Given the description of an element on the screen output the (x, y) to click on. 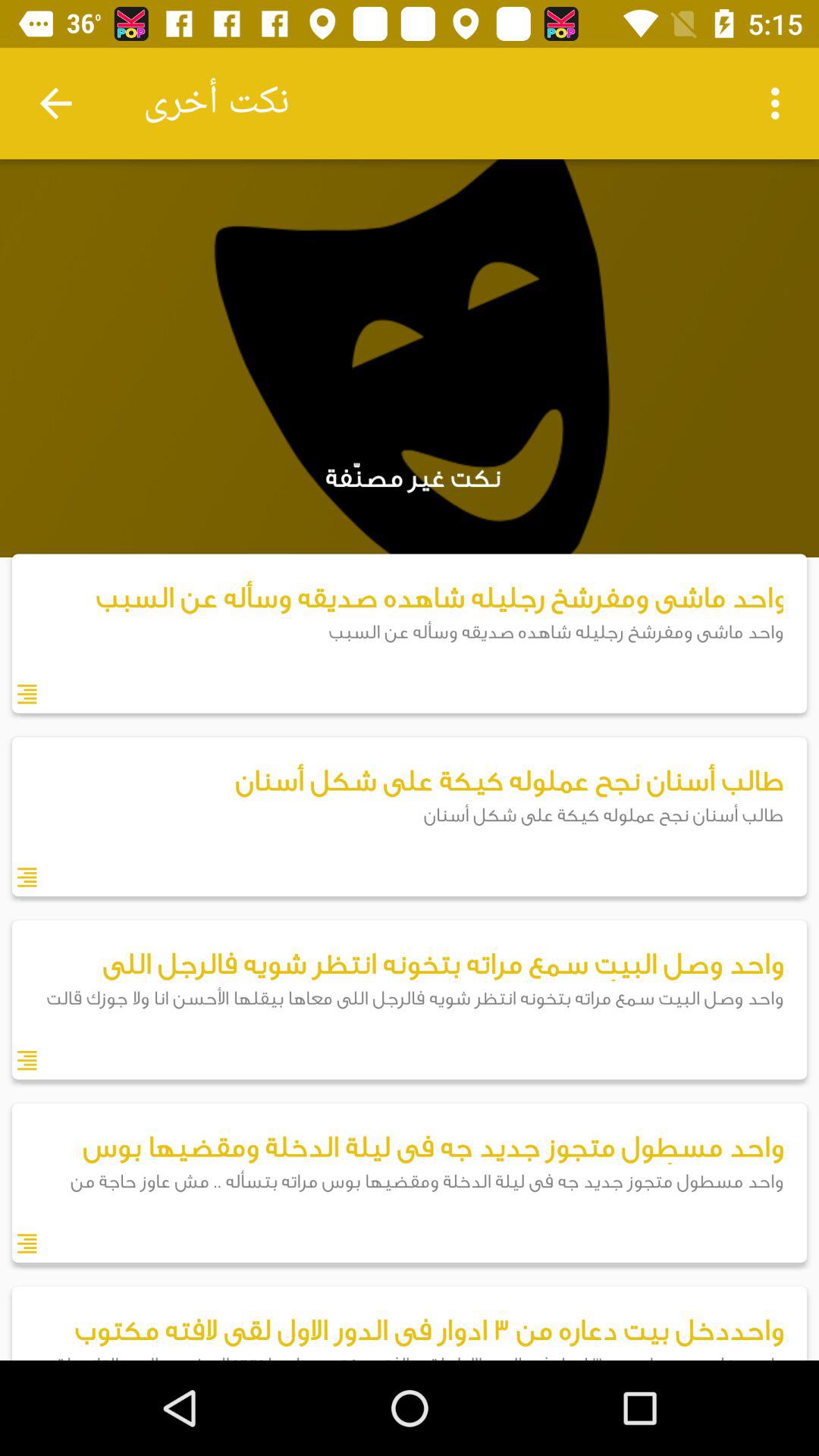
click on the three button at the top right corner of the page (779, 103)
